Given the description of an element on the screen output the (x, y) to click on. 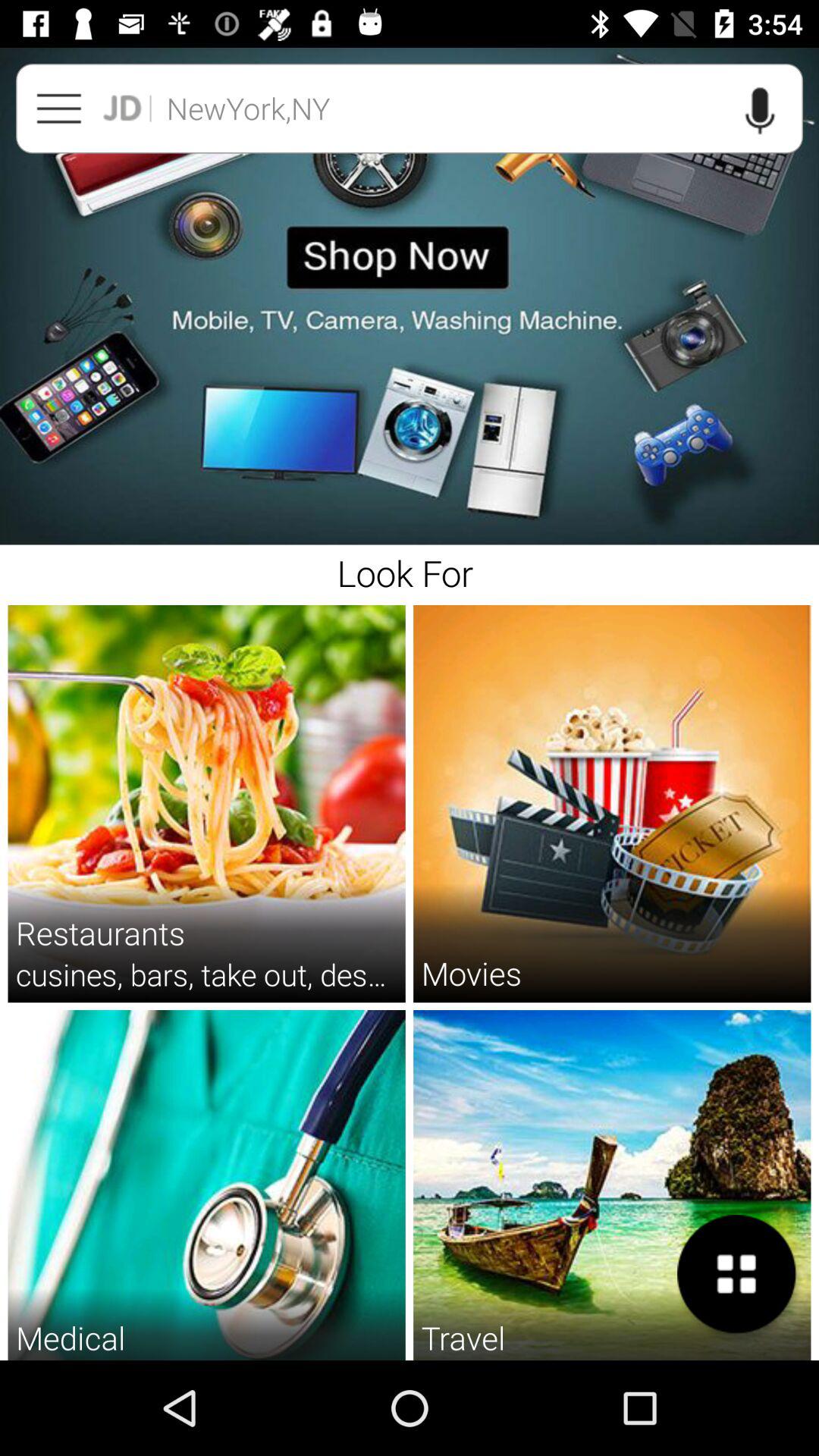
flip to movies (471, 972)
